Given the description of an element on the screen output the (x, y) to click on. 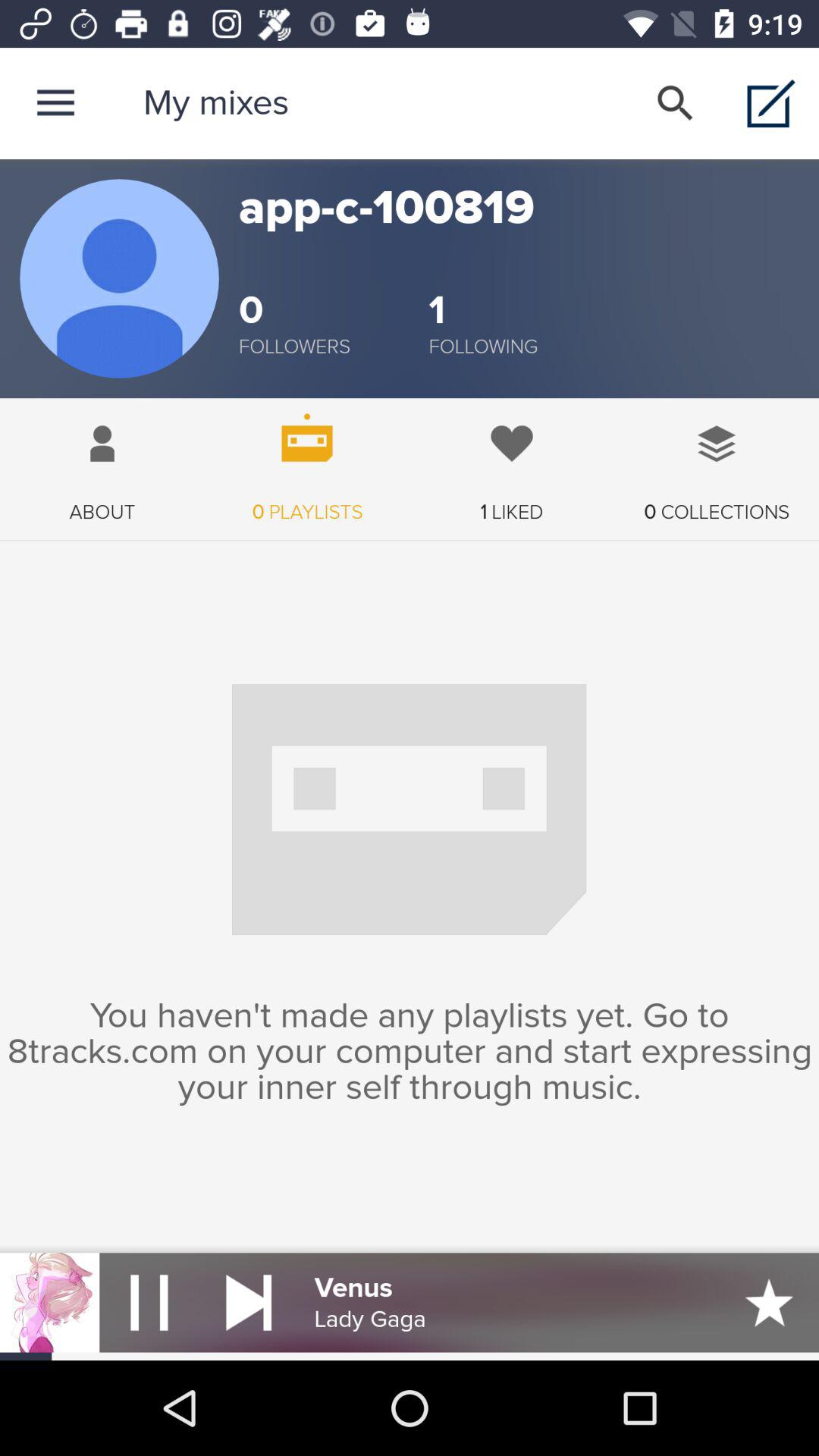
press the icon next to venus icon (248, 1302)
